Given the description of an element on the screen output the (x, y) to click on. 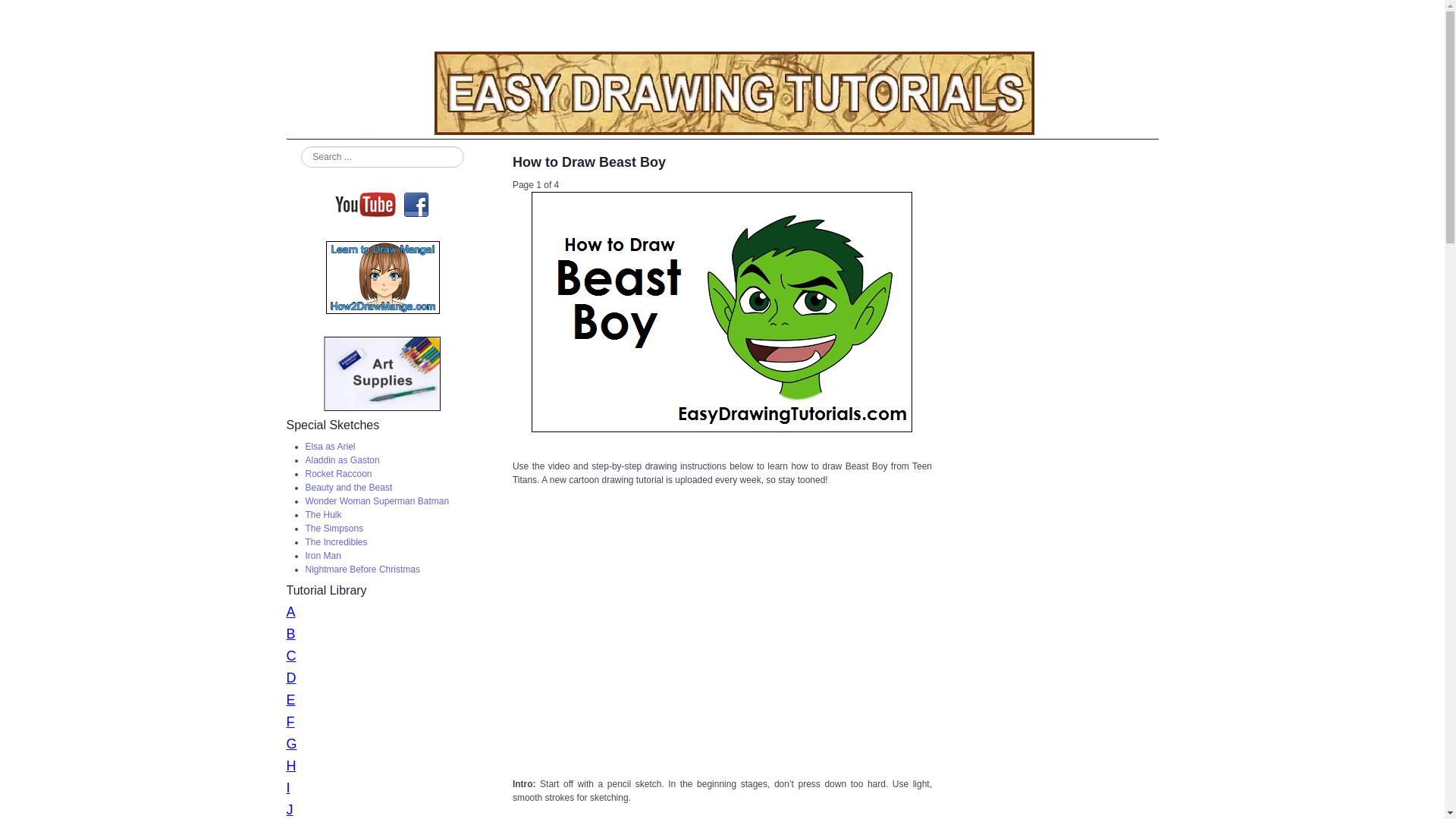
Wonder Woman Superman Batman (376, 501)
EasyDrawingTutorials YouTube (366, 203)
Easy Drawing Tutorials Facebook (415, 203)
Aladdin as Gaston (341, 460)
EasyDrawingTutorials.com (722, 95)
Seine Studios Facebook (415, 203)
Beauty and the Beast (347, 487)
The Incredibles (335, 542)
The Simpsons (333, 528)
Easy Drawing Tutorials YouTube (366, 203)
